Given the description of an element on the screen output the (x, y) to click on. 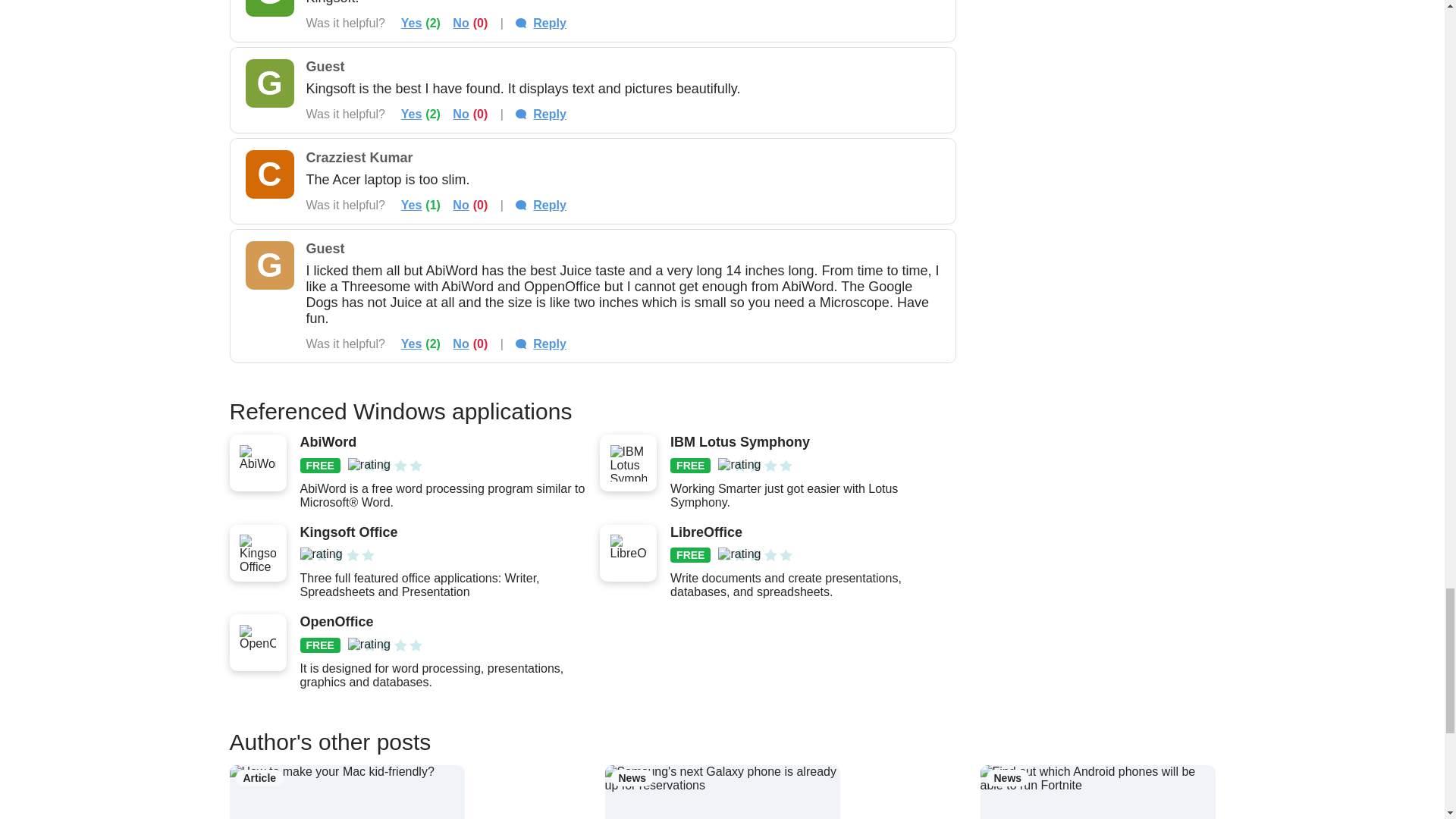
Yes (411, 22)
AbiWord (442, 442)
Kingsoft Office (442, 532)
LibreOffice (812, 532)
IBM Lotus Symphony (812, 442)
OpenOffice (442, 622)
